Given the description of an element on the screen output the (x, y) to click on. 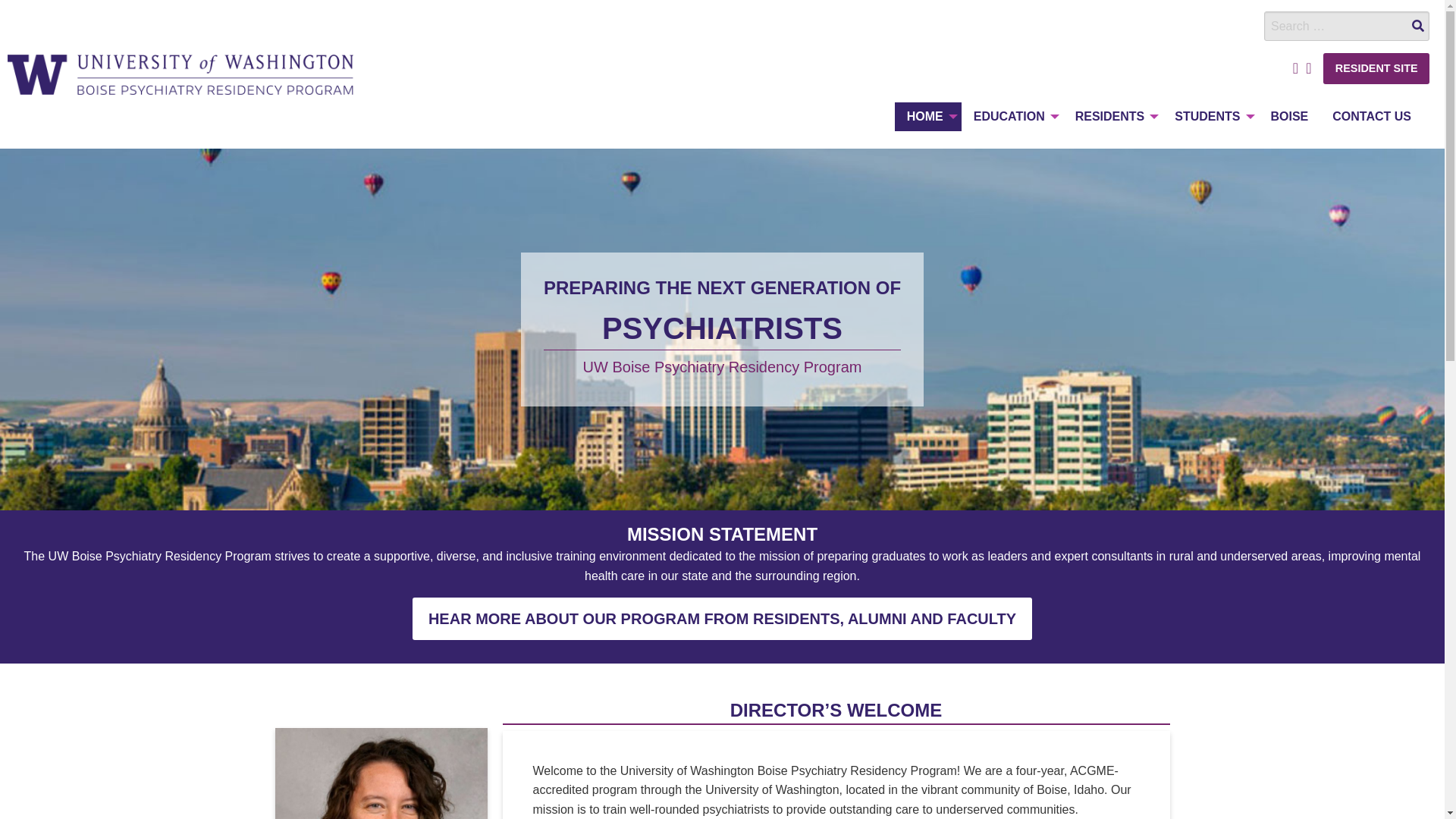
YouTube (1308, 67)
Instagram  (1295, 67)
